Given the description of an element on the screen output the (x, y) to click on. 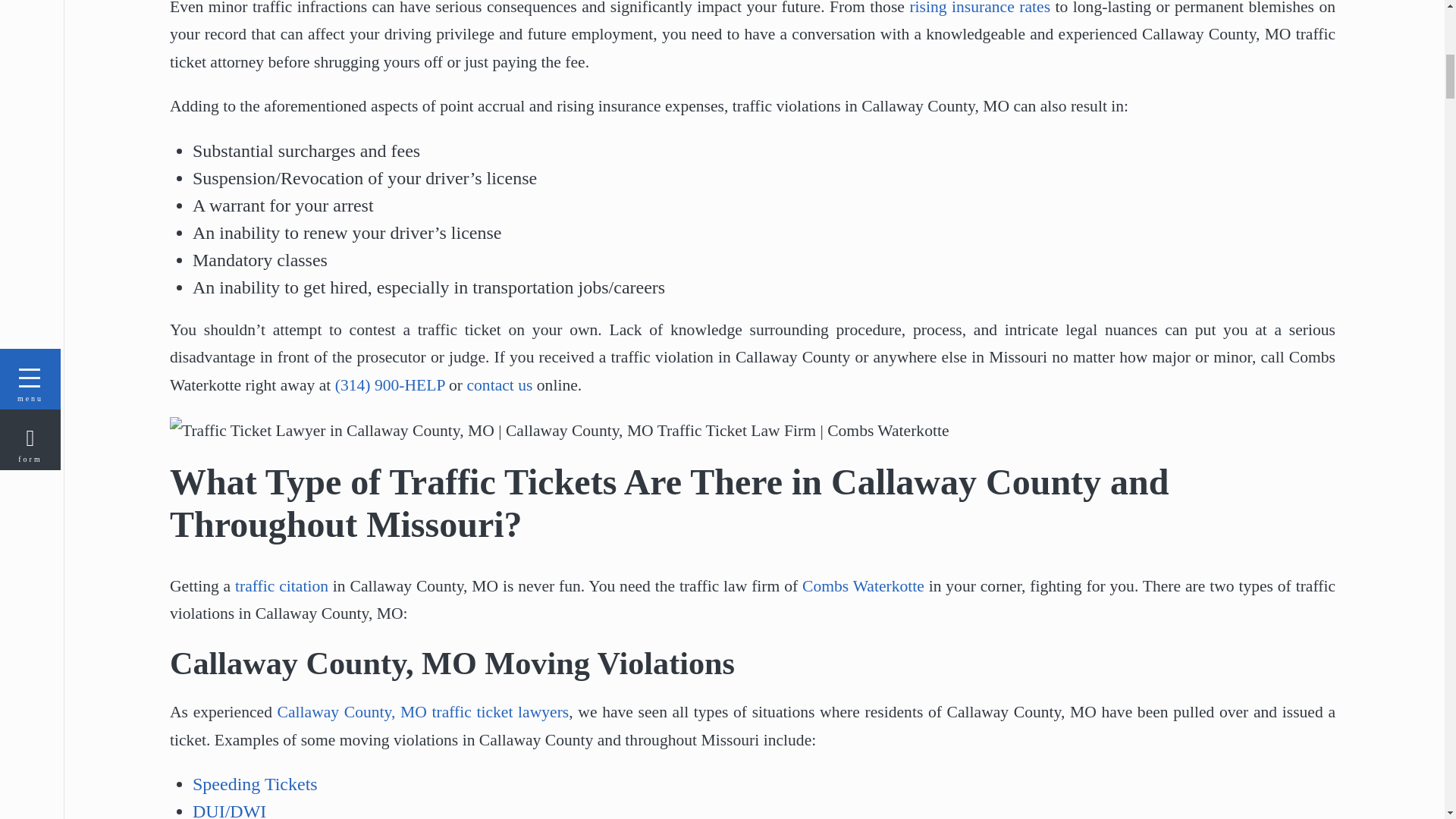
Combs Waterkotte (863, 586)
rising insurance rates (978, 7)
Callaway County, MO traffic ticket lawyers (423, 711)
Traffic Ticket Lawyer Callaway County, MO - Bankrate (978, 7)
Traffic Ticket Lawyer - State Records (281, 586)
Speeding Tickets (254, 783)
contact us (498, 384)
traffic citation (281, 586)
